Given the description of an element on the screen output the (x, y) to click on. 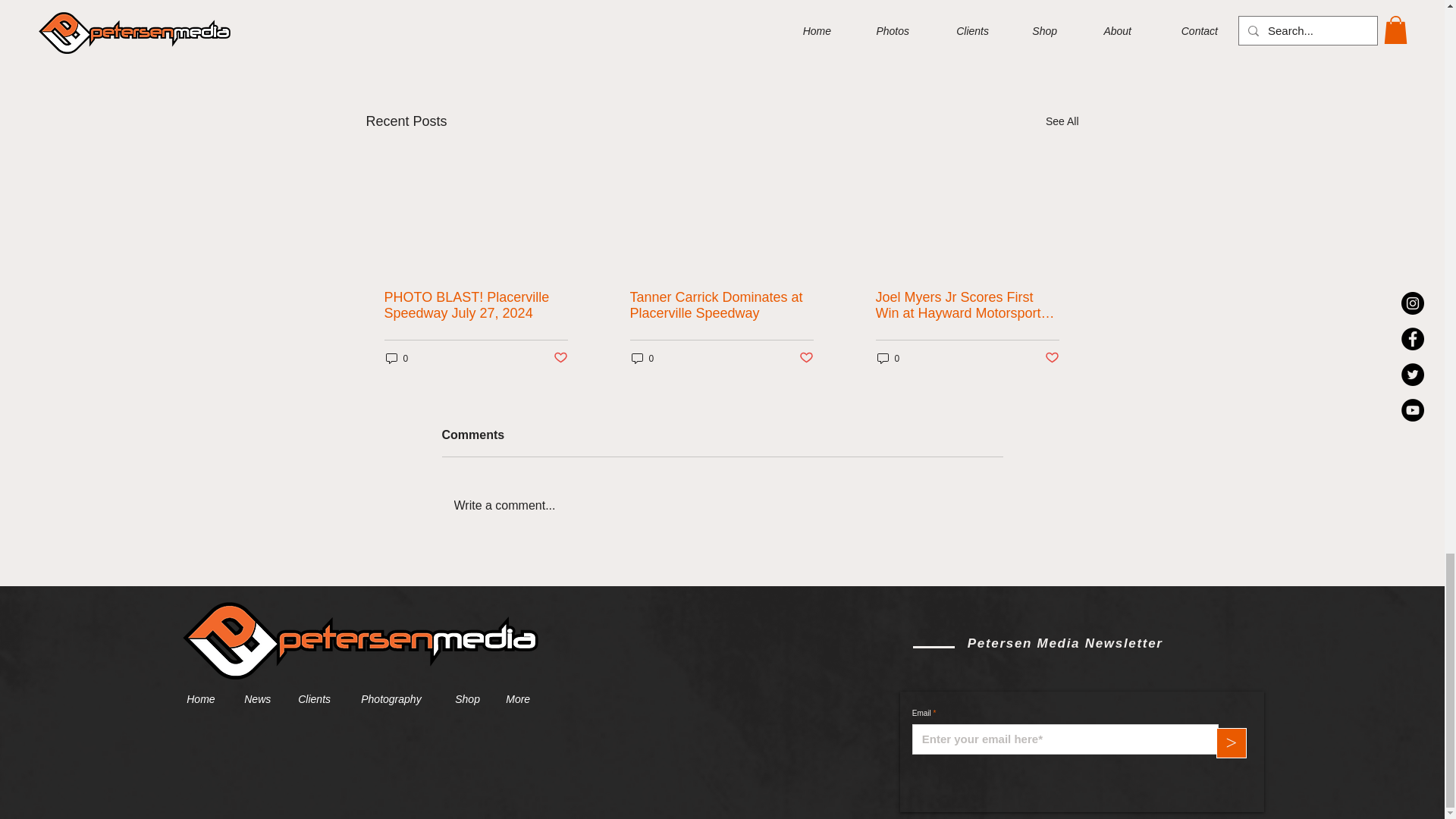
See All (1061, 121)
Post not marked as liked (995, 39)
